Given the description of an element on the screen output the (x, y) to click on. 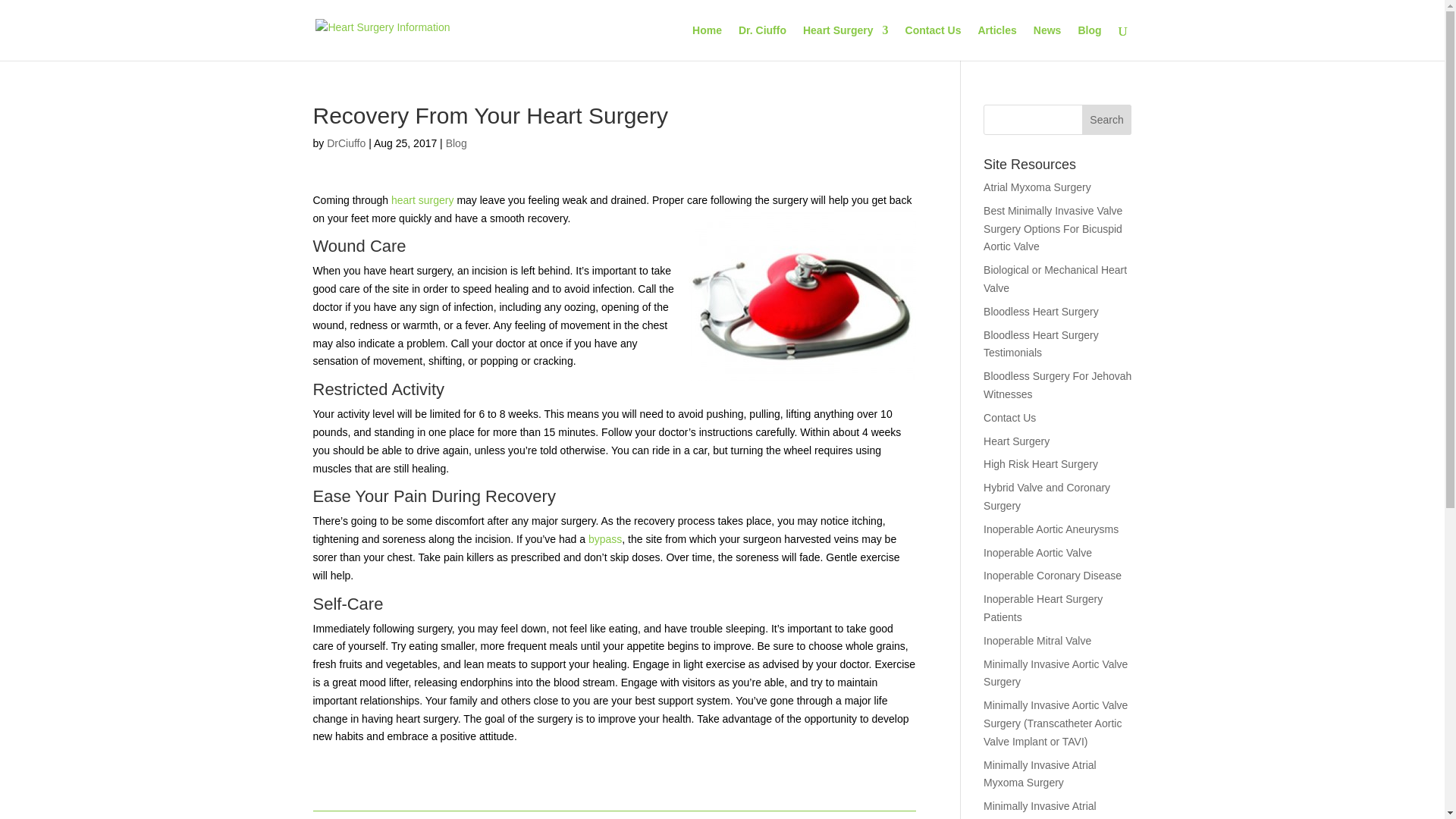
Atrial Myxoma Surgery (1037, 186)
Inoperable Mitral Valve (1037, 640)
Dr. Ciuffo (762, 42)
Inoperable Coronary Disease (1052, 575)
DrCiuffo (345, 143)
Minimally Invasive Atrial Myxoma Surgery (1040, 774)
Minimally Invasive Aortic Valve Surgery (1055, 673)
Biological or Mechanical Heart Valve (1055, 278)
Blog (456, 143)
Bloodless Heart Surgery Testimonials (1041, 344)
